Given the description of an element on the screen output the (x, y) to click on. 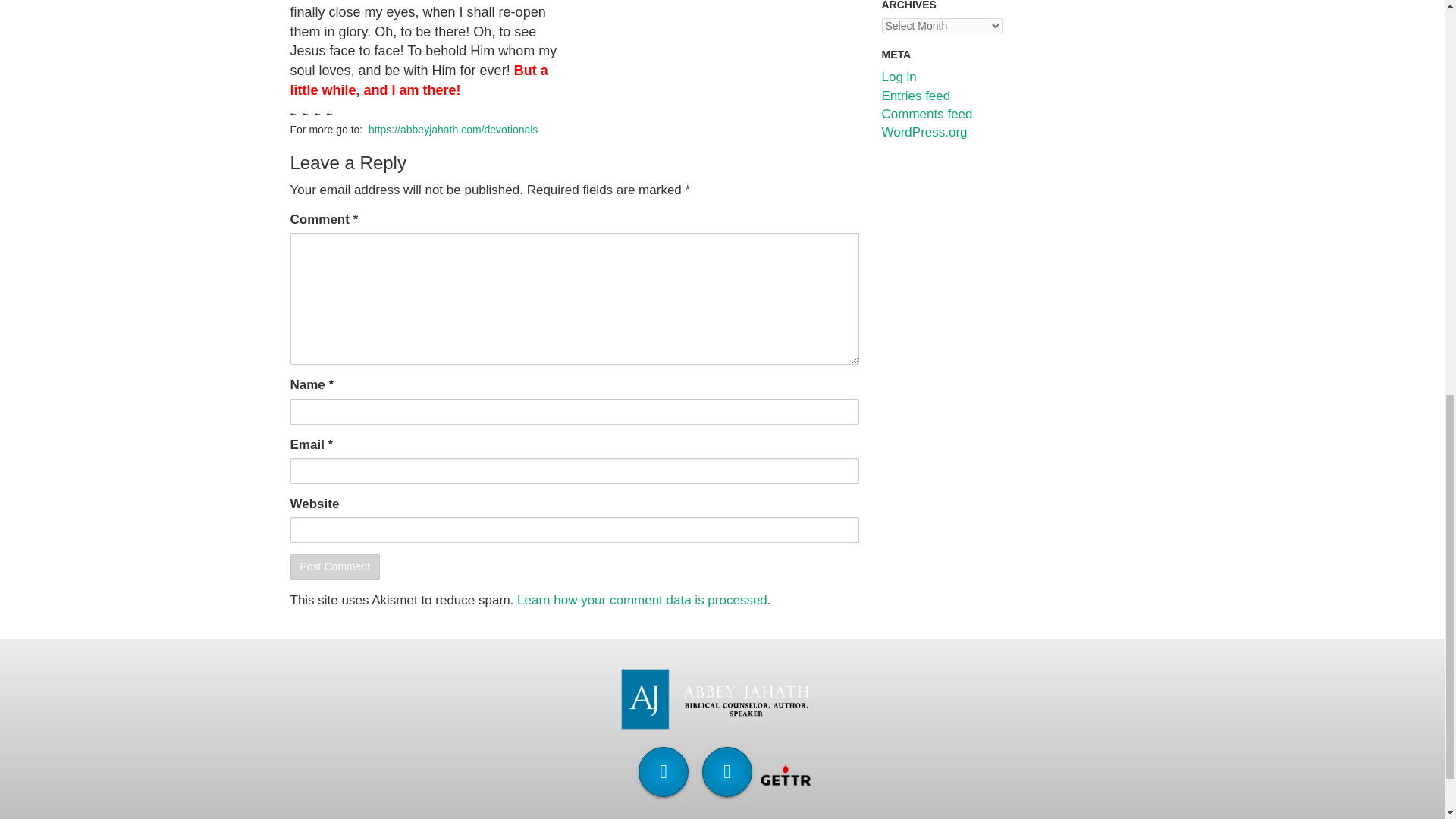
Post Comment (334, 566)
Learn how your comment data is processed (641, 599)
Post Comment (334, 566)
